Given the description of an element on the screen output the (x, y) to click on. 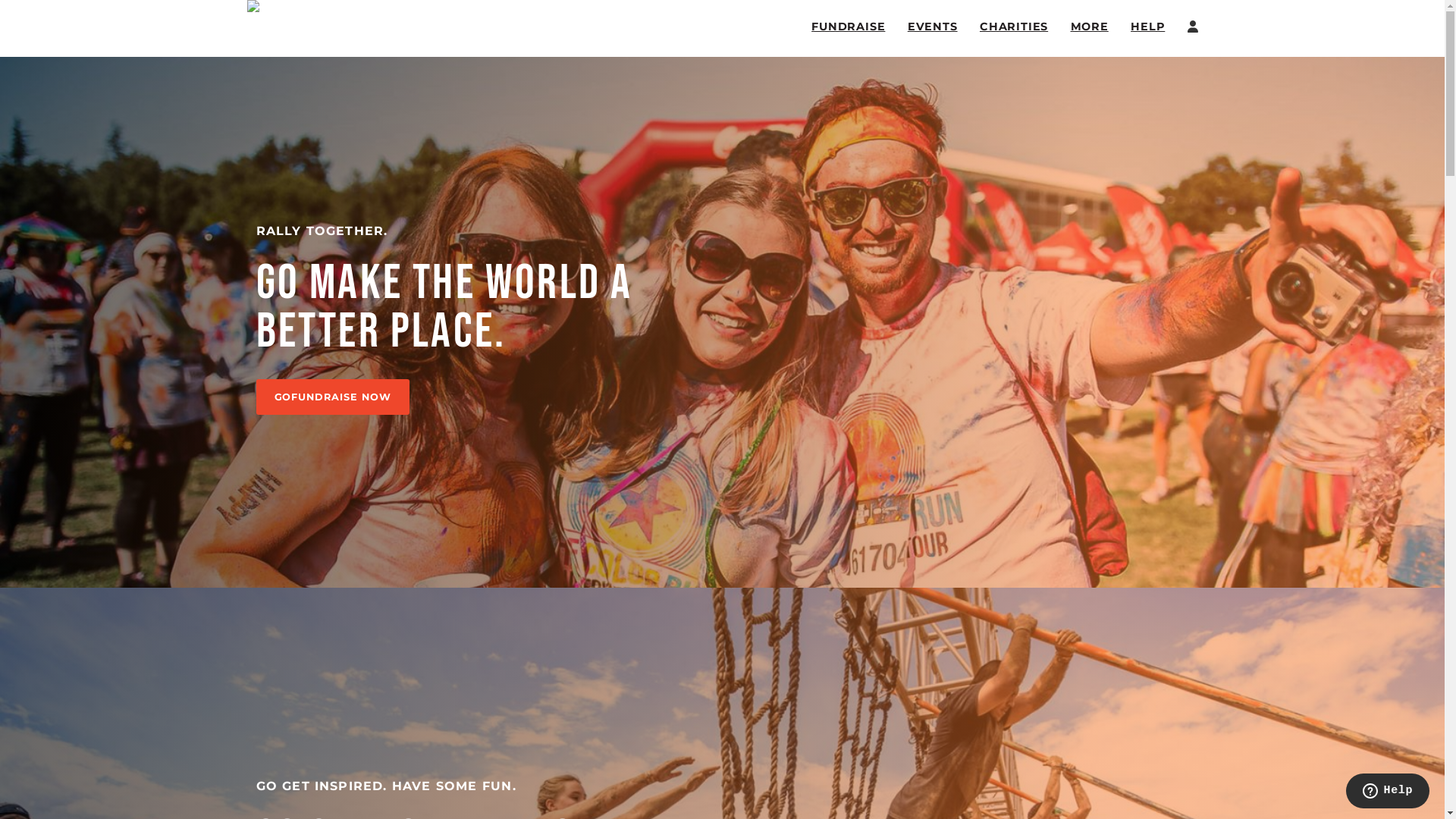
FUNDRAISE Element type: text (847, 26)
Opens a widget where you can find more information Element type: hover (1387, 792)
GOFUNDRAISE NOW Element type: text (332, 396)
MORE Element type: text (1089, 26)
HELP Element type: text (1147, 26)
CHARITIES Element type: text (1013, 26)
EVENTS Element type: text (932, 26)
